Given the description of an element on the screen output the (x, y) to click on. 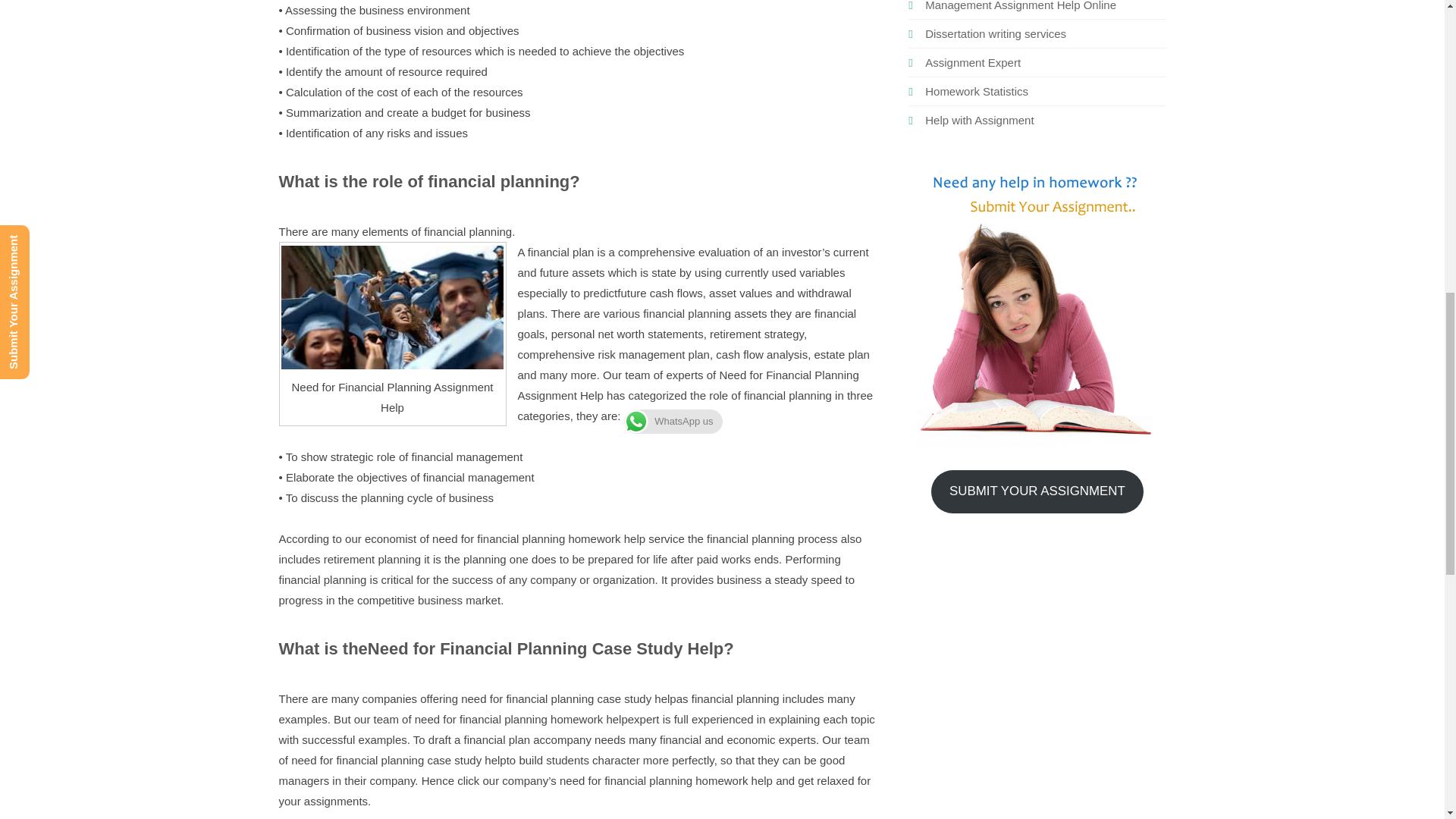
Assignment Expert (972, 62)
Dissertation writing services (994, 33)
Homework Statistics (975, 91)
Help with Assignment (978, 119)
SUBMIT YOUR ASSIGNMENT (1037, 491)
Management Assignment Help Online (1020, 5)
